Given the description of an element on the screen output the (x, y) to click on. 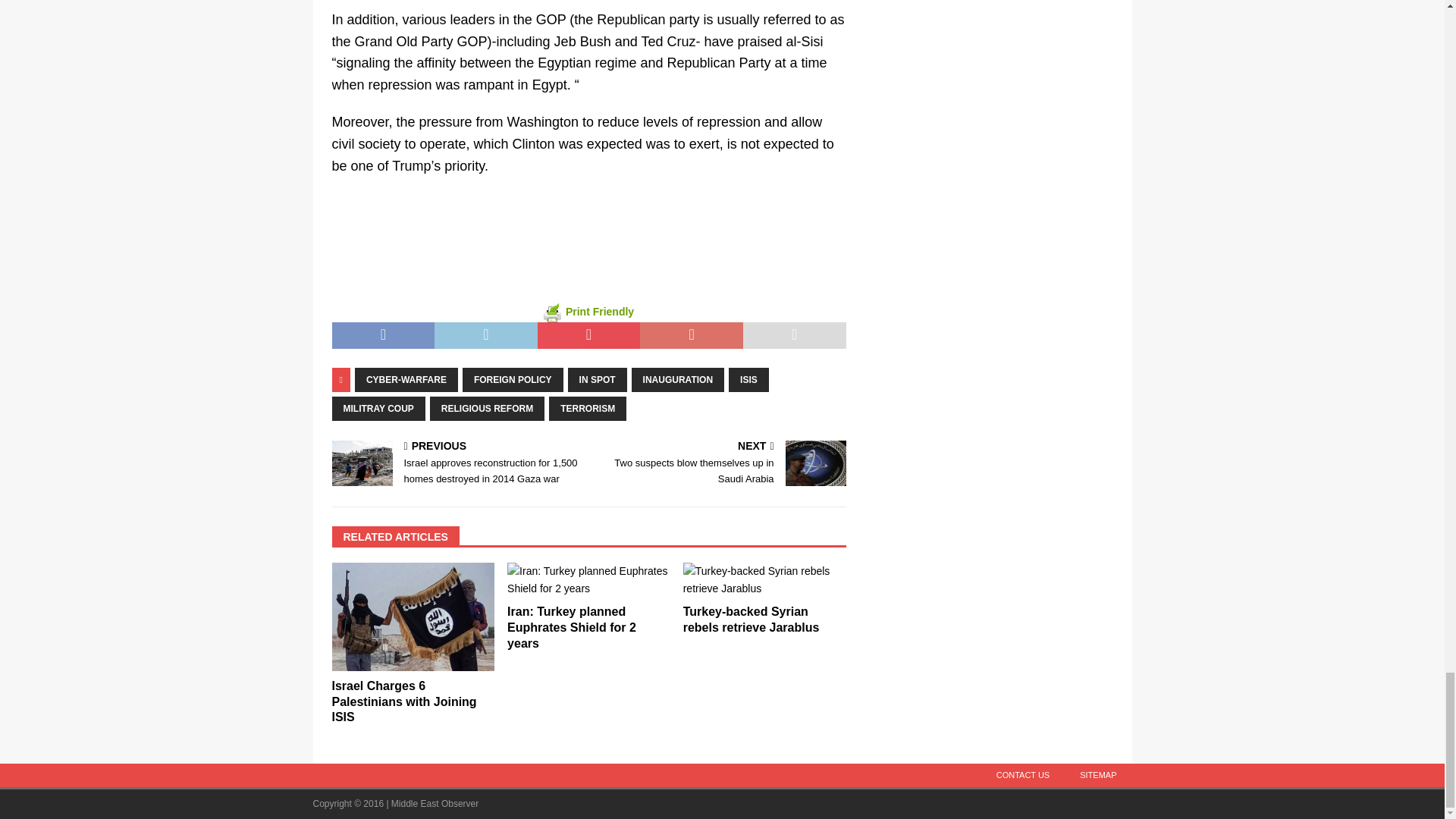
Israel Charges 6 Palestinians with Joining ISIS (413, 616)
Israel Charges 6 Palestinians with Joining ISIS (404, 701)
